Given the description of an element on the screen output the (x, y) to click on. 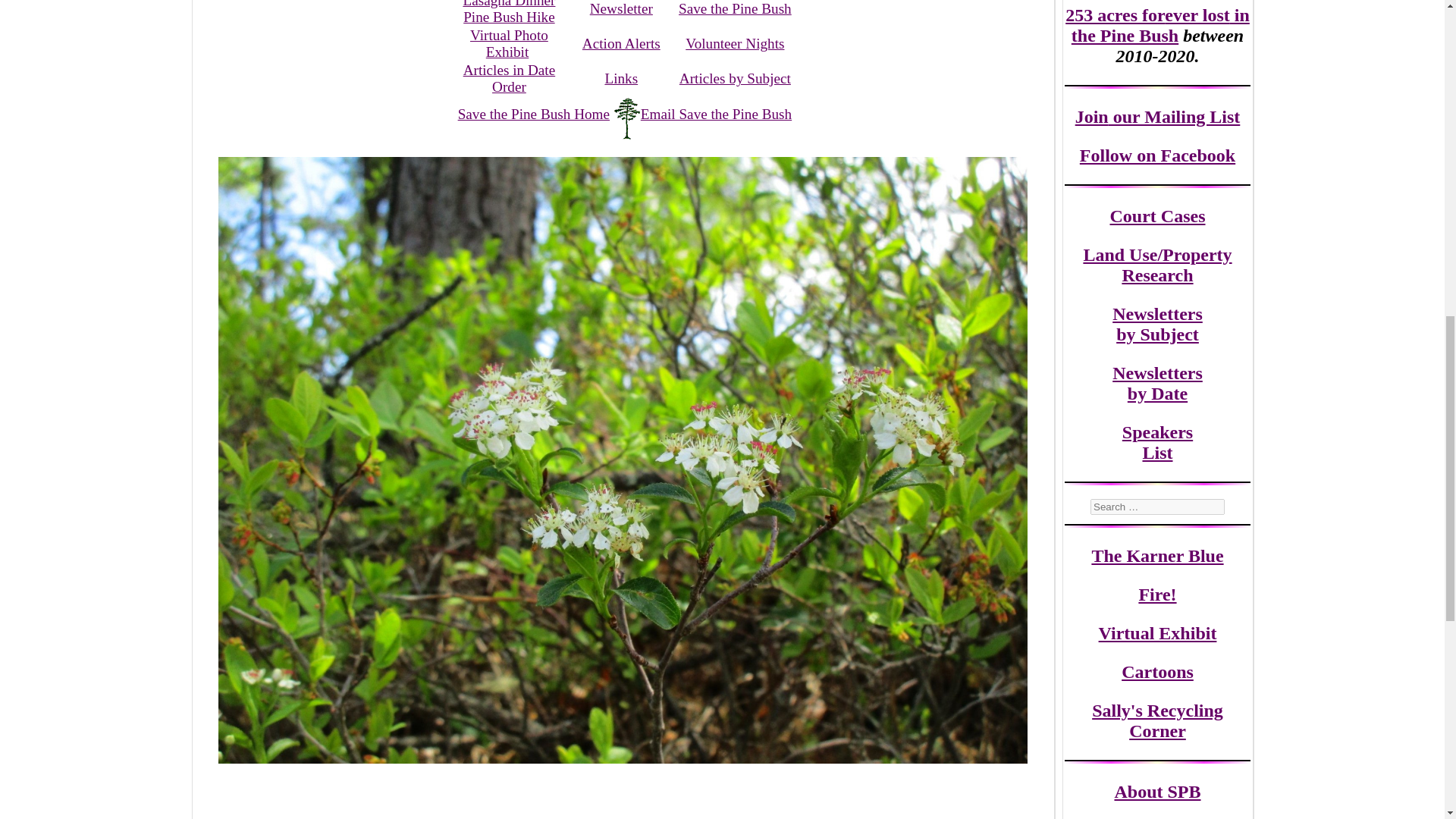
Pine Bush Hike (508, 17)
Court Cases (1157, 216)
253 acres fo (1111, 14)
Links (620, 78)
ever lost in the Pine Bush (1160, 24)
Virtual Photo Exhibit (509, 43)
Action Alerts (1157, 323)
Articles in Date Order (621, 43)
Email Save the Pine Bush (508, 78)
